Given the description of an element on the screen output the (x, y) to click on. 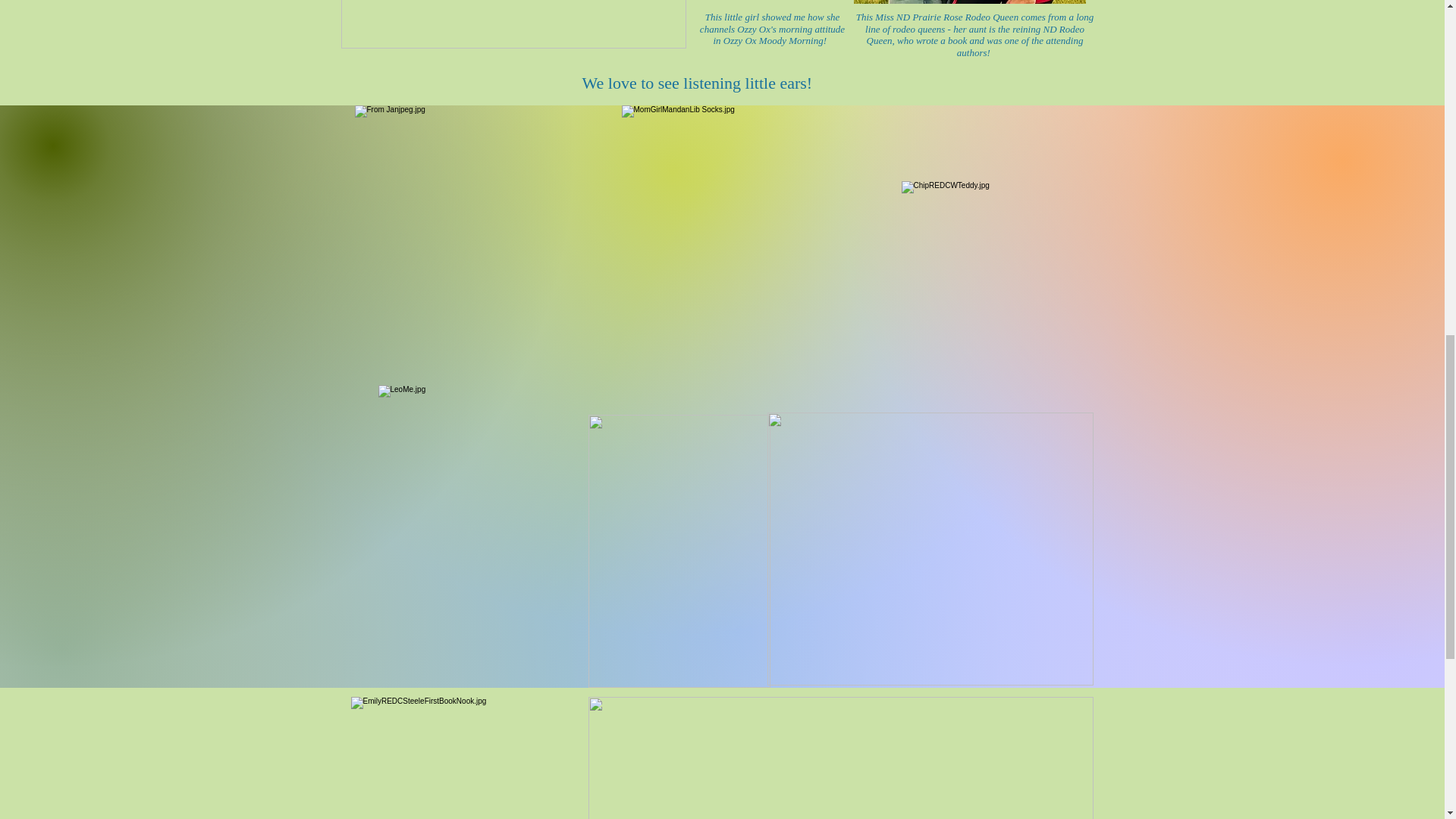
MeWithEditMissPrairieRoseRodeoREDC.jpg (969, 2)
